Given the description of an element on the screen output the (x, y) to click on. 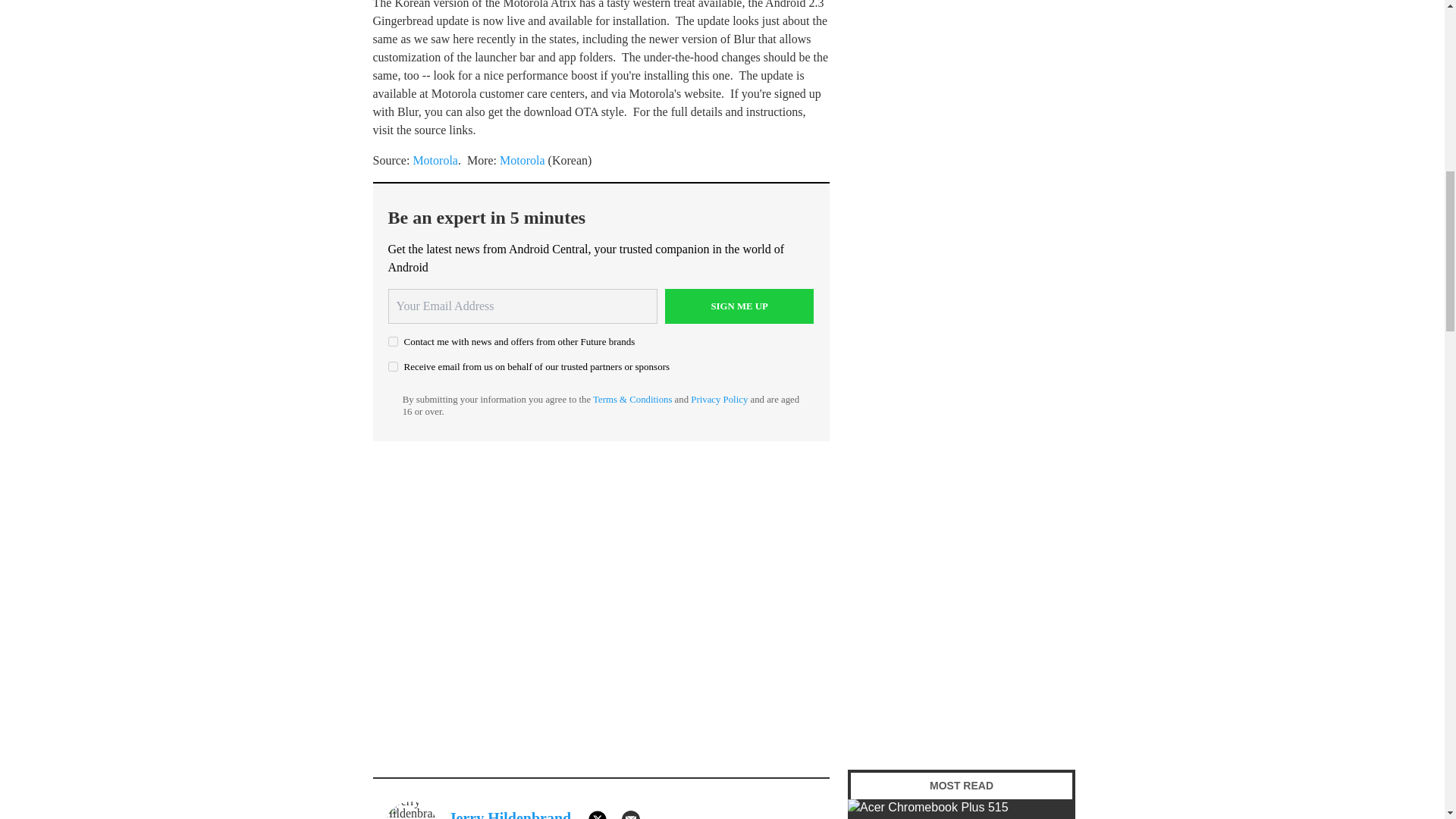
on (392, 366)
Moto Korea (521, 160)
on (392, 341)
Sign me up (739, 306)
Motorola (435, 160)
